Given the description of an element on the screen output the (x, y) to click on. 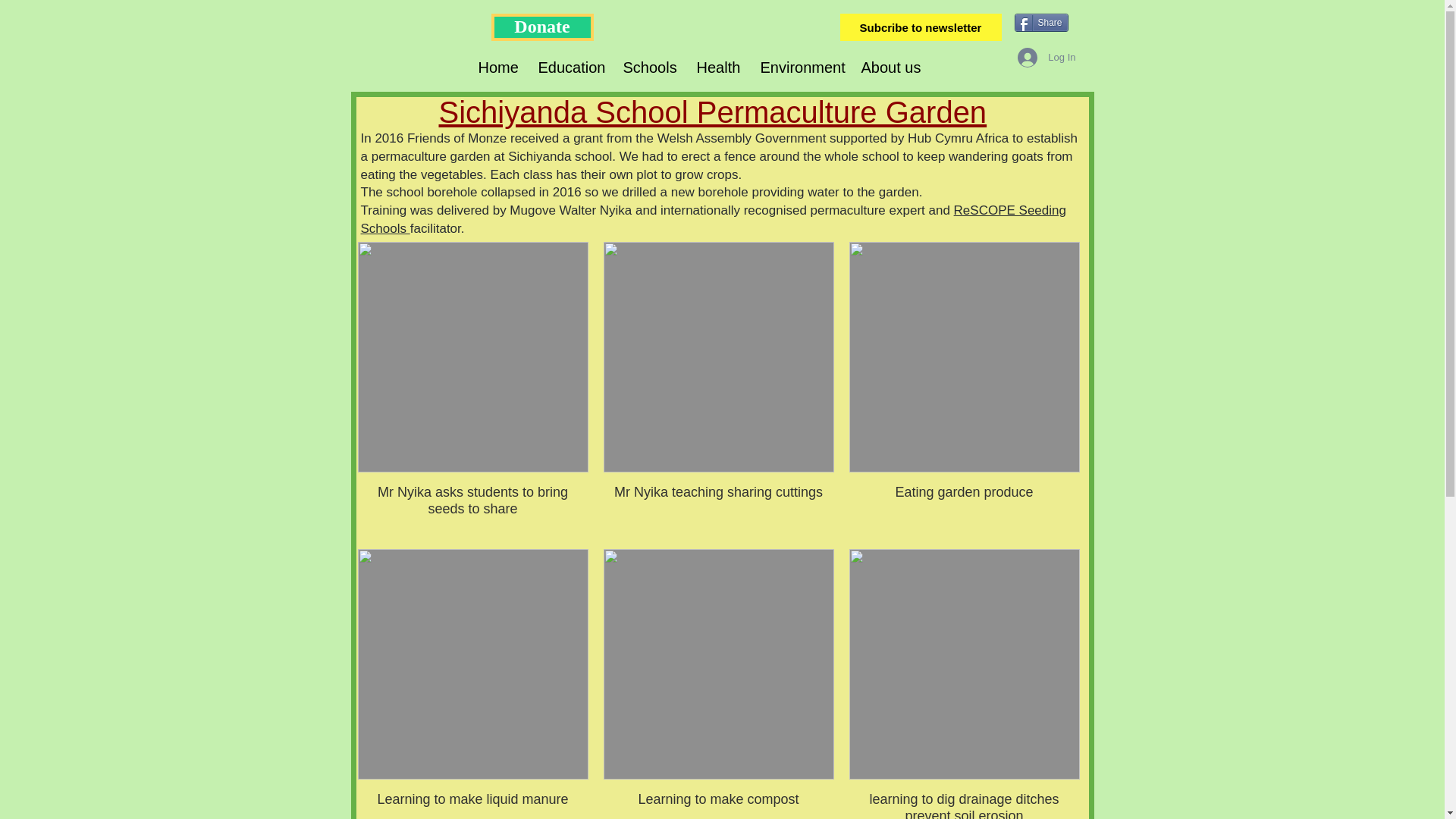
Home (497, 67)
Twitter Tweet (1048, 70)
About us (888, 67)
Share (1041, 22)
Share (1041, 22)
Donate (543, 26)
Facebook Like (1040, 48)
Subcribe to newsletter (920, 26)
